Given the description of an element on the screen output the (x, y) to click on. 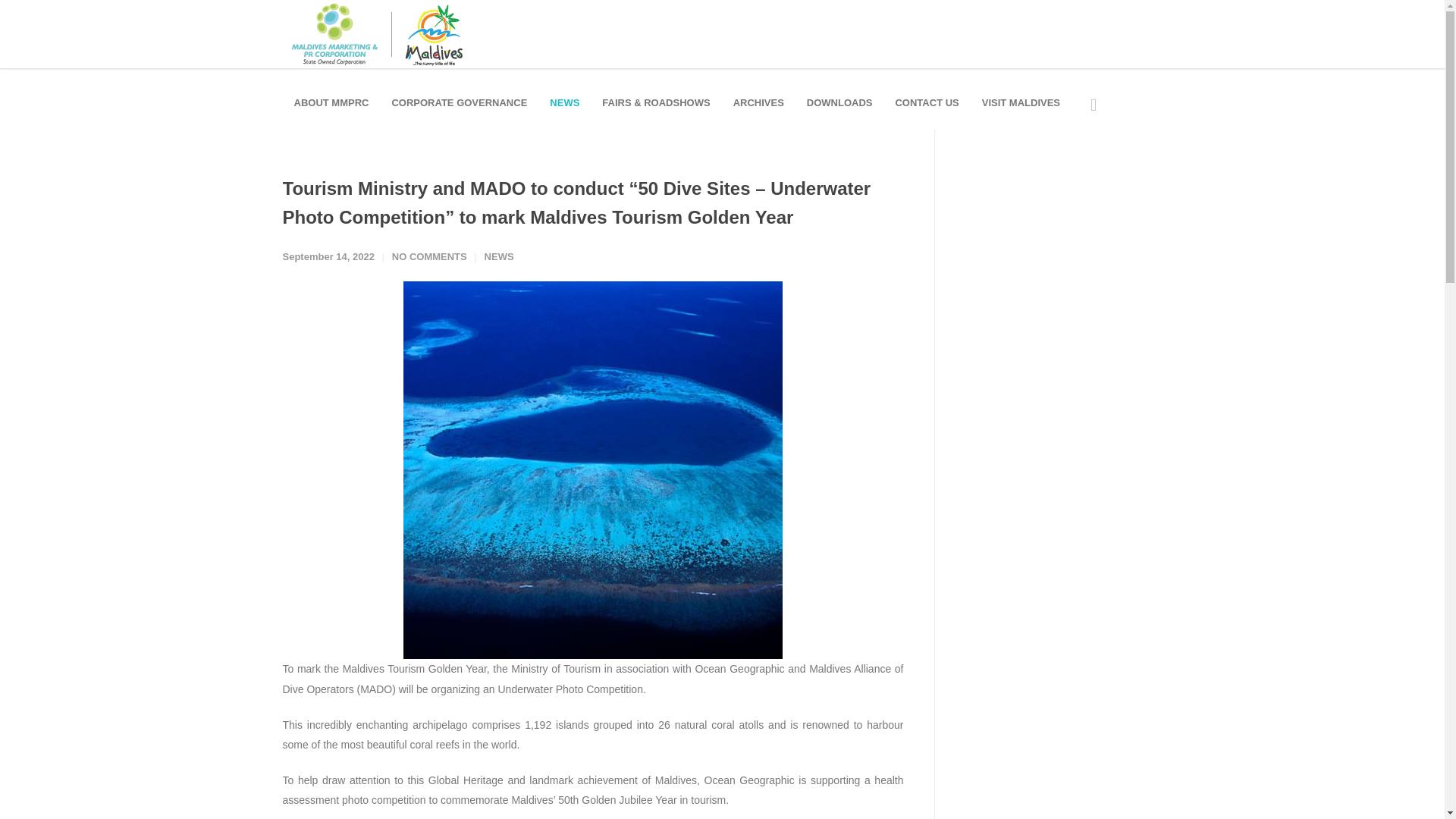
CONTACT US (926, 102)
NEWS (564, 102)
NEWS (498, 256)
ARCHIVES (758, 102)
VISIT MALDIVES (1021, 102)
NO COMMENTS (429, 256)
DOWNLOADS (838, 102)
ABOUT MMPRC (331, 102)
CORPORATE GOVERNANCE (459, 102)
